Given the description of an element on the screen output the (x, y) to click on. 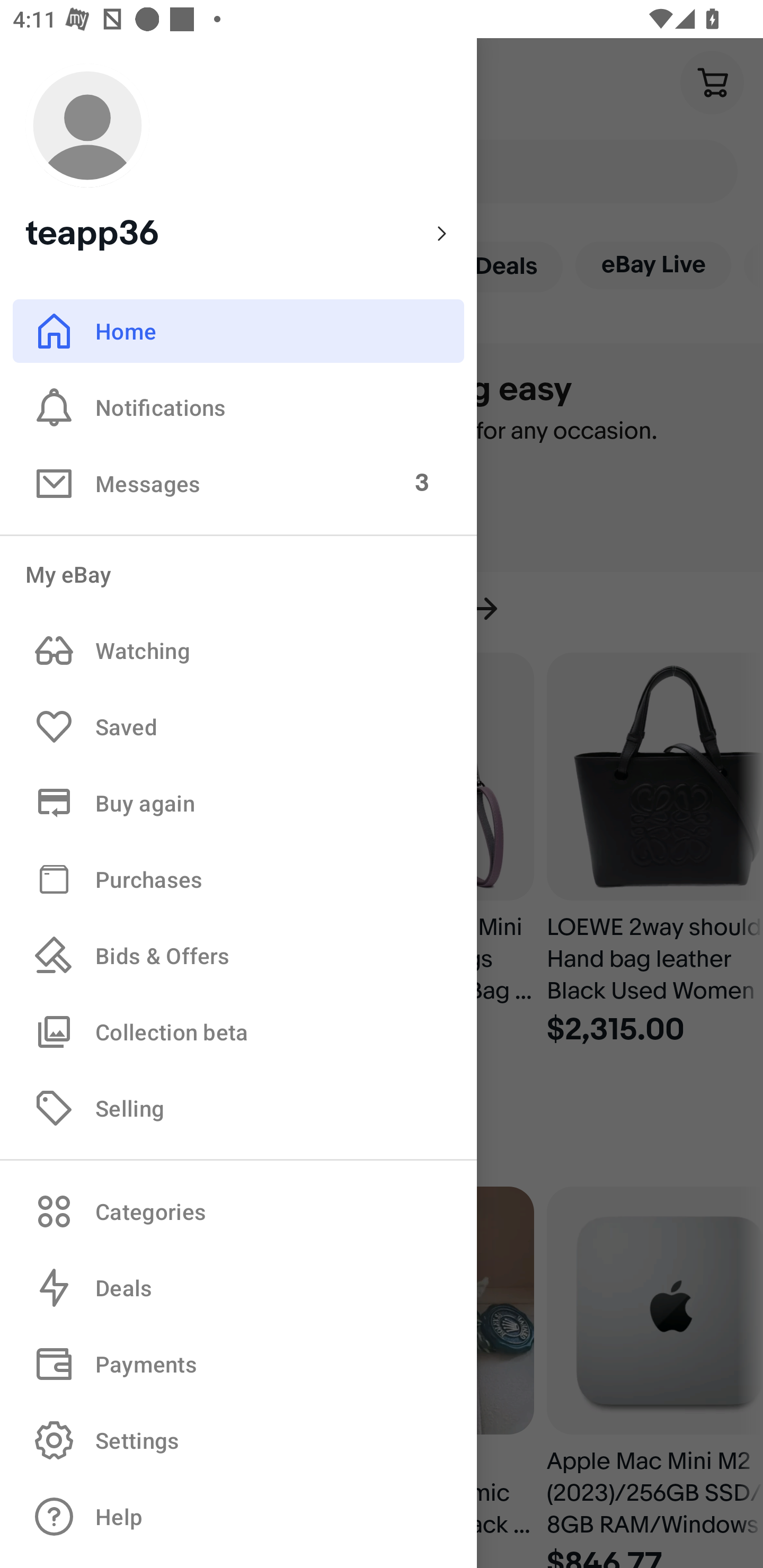
teapp36 (238, 158)
Home (238, 330)
Notifications (238, 406)
Messages 3 (238, 483)
Watching (238, 650)
Saved (238, 726)
Buy again (238, 802)
Purchases (238, 878)
Bids & Offers (238, 955)
Collection beta (238, 1031)
Selling (238, 1107)
Categories (238, 1210)
Deals (238, 1287)
Payments (238, 1363)
Settings (238, 1439)
Help (238, 1516)
